Given the description of an element on the screen output the (x, y) to click on. 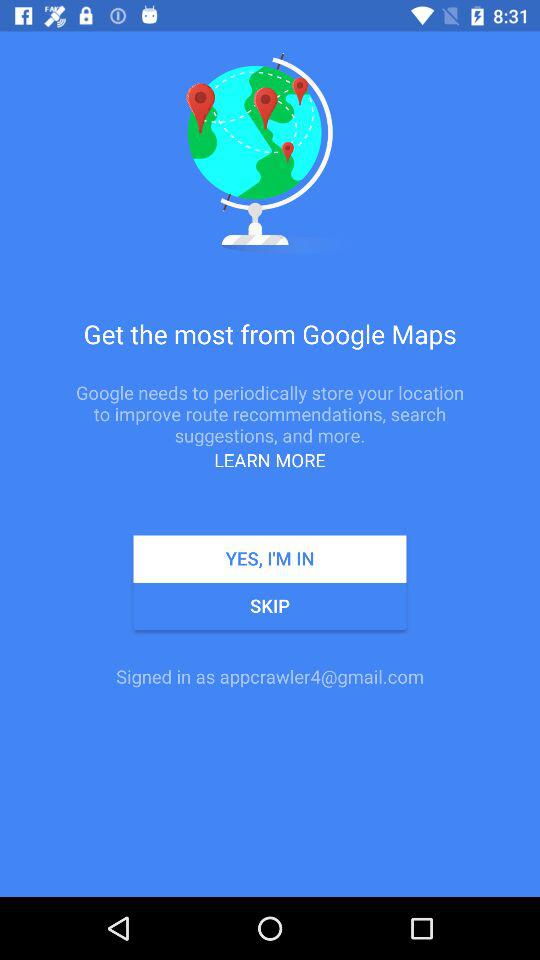
scroll until the yes i m item (269, 558)
